Given the description of an element on the screen output the (x, y) to click on. 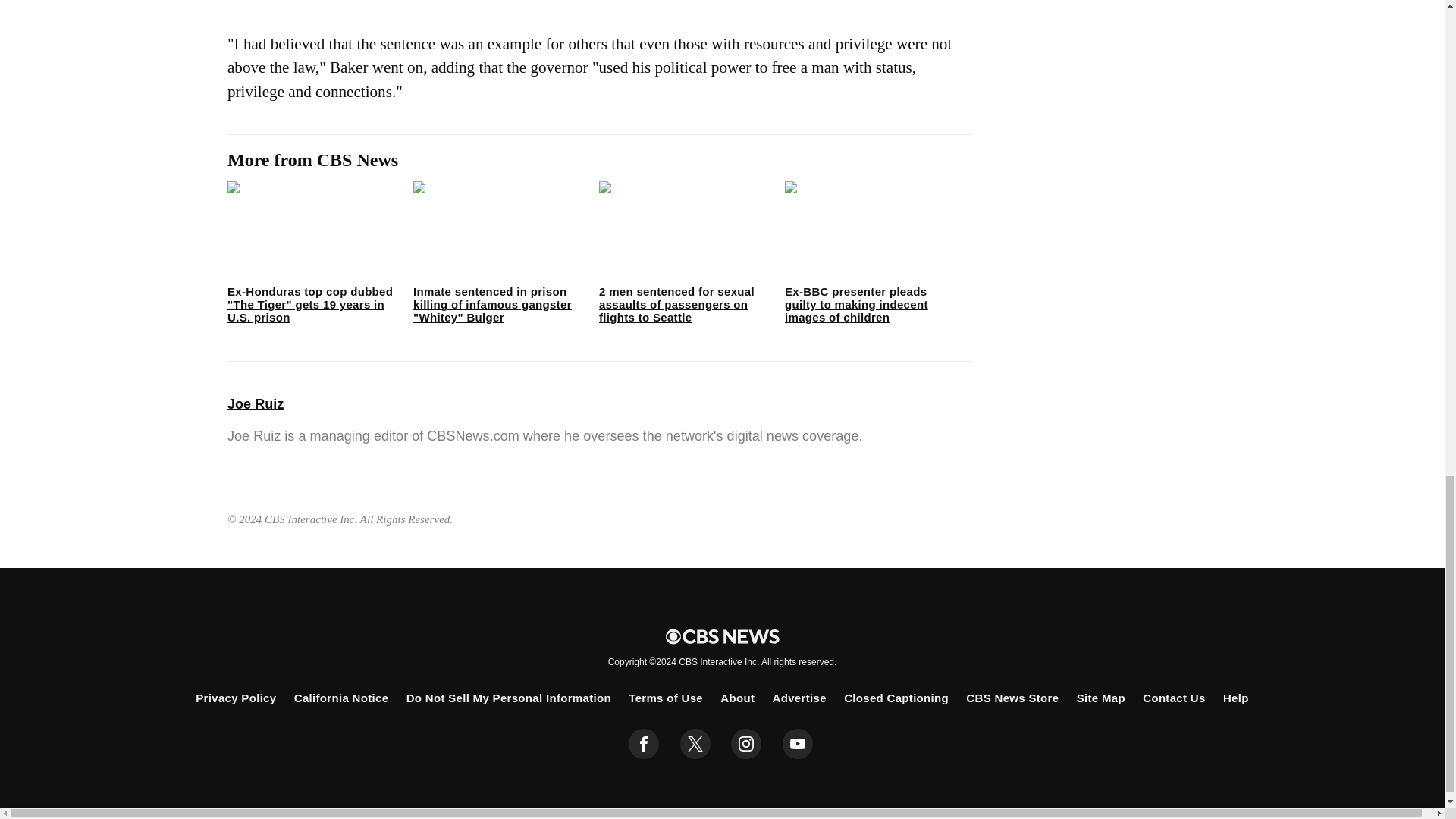
twitter (694, 743)
instagram (745, 743)
facebook (643, 743)
youtube (797, 743)
